Given the description of an element on the screen output the (x, y) to click on. 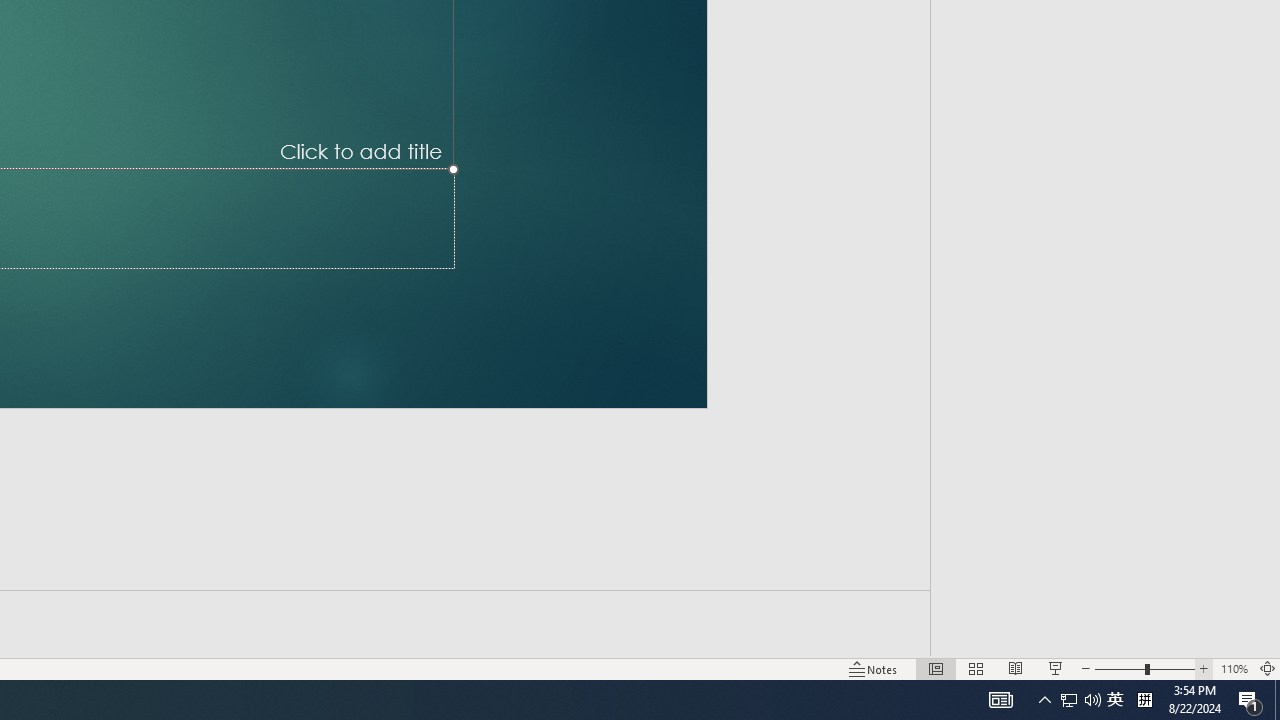
Zoom 110% (1234, 668)
